Given the description of an element on the screen output the (x, y) to click on. 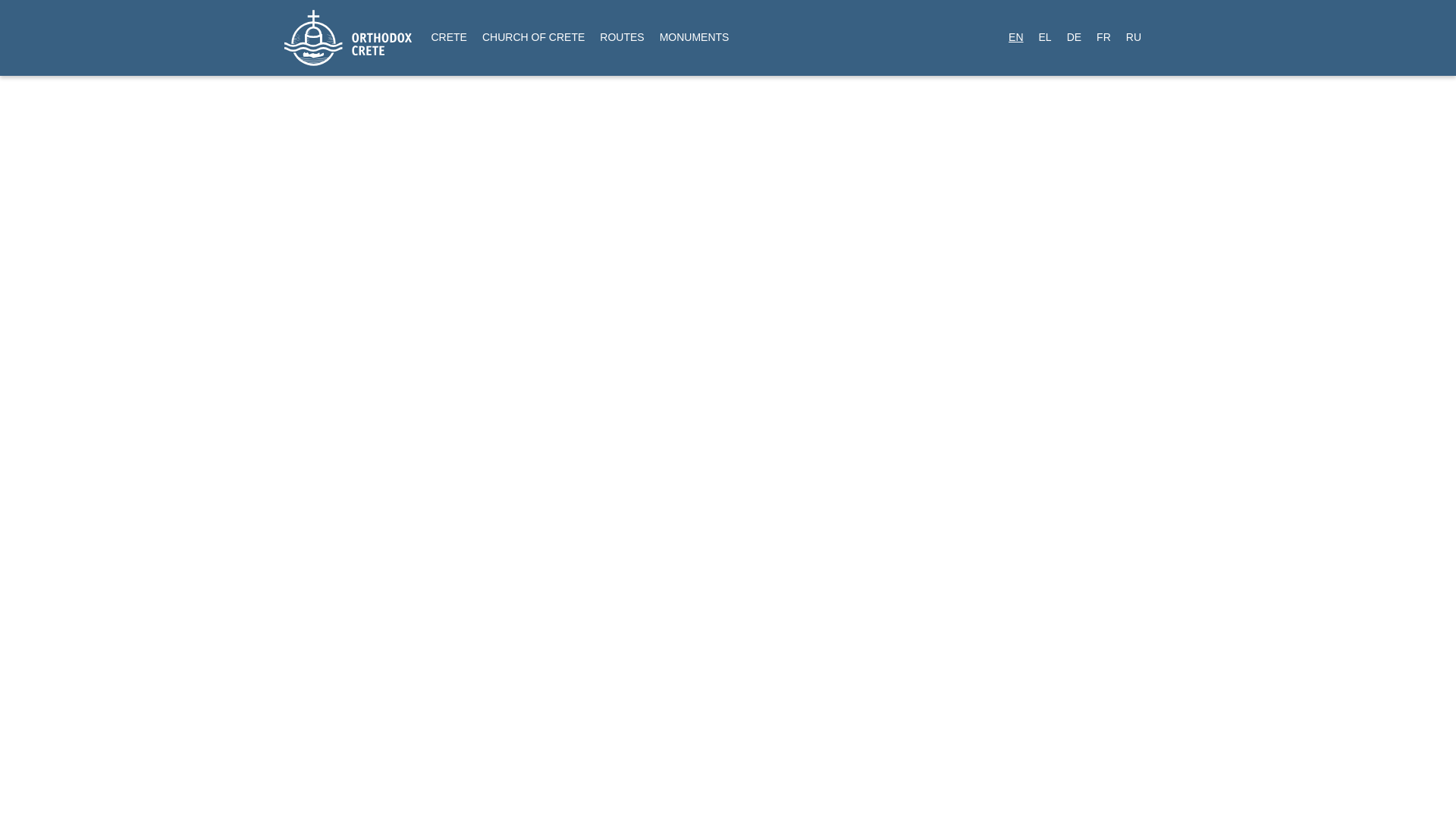
CRETE (448, 37)
ROUTES (621, 37)
CHURCH OF CRETE (533, 37)
MONUMENTS (694, 37)
